Given the description of an element on the screen output the (x, y) to click on. 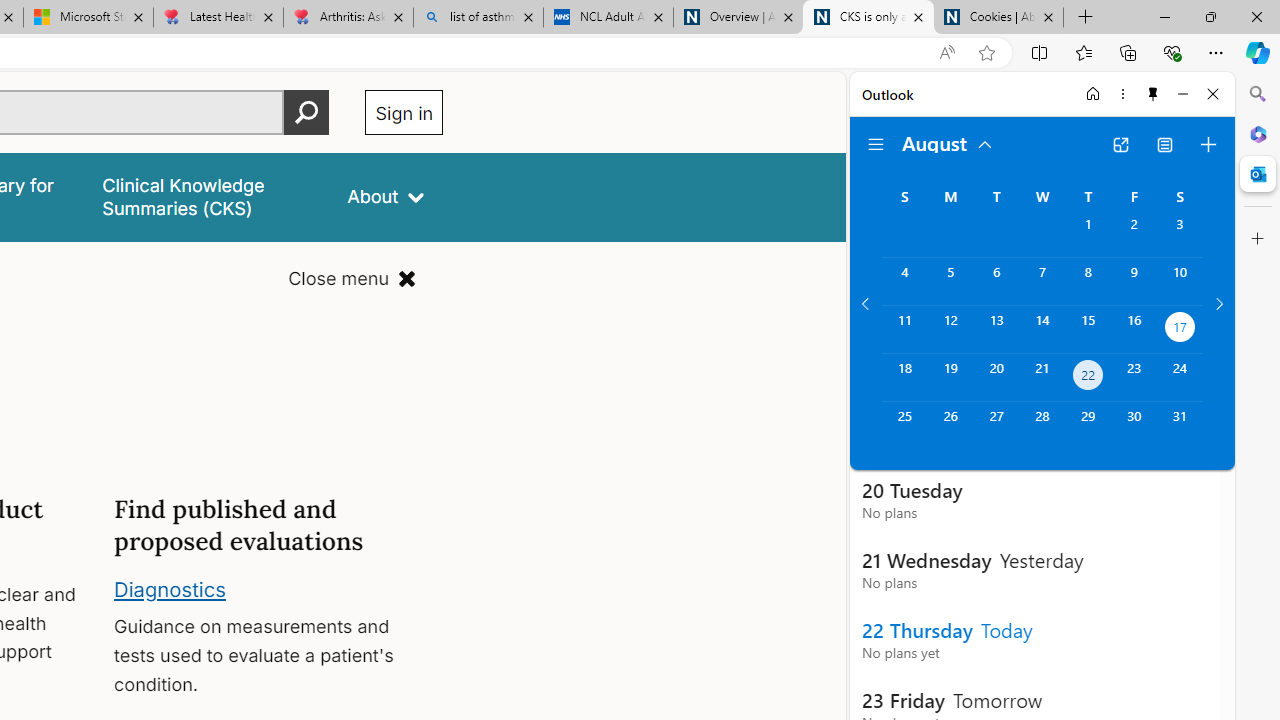
NCL Adult Asthma Inhaler Choice Guideline (608, 17)
Wednesday, August 14, 2024.  (1042, 329)
false (207, 196)
Thursday, August 1, 2024.  (1088, 233)
Open in new tab (1120, 144)
Thursday, August 15, 2024.  (1088, 329)
Sunday, August 25, 2024.  (904, 425)
Wednesday, August 7, 2024.  (1042, 281)
View Switcher. Current view is Agenda view (1165, 144)
Friday, August 16, 2024.  (1134, 329)
Wednesday, August 28, 2024.  (1042, 425)
